Given the description of an element on the screen output the (x, y) to click on. 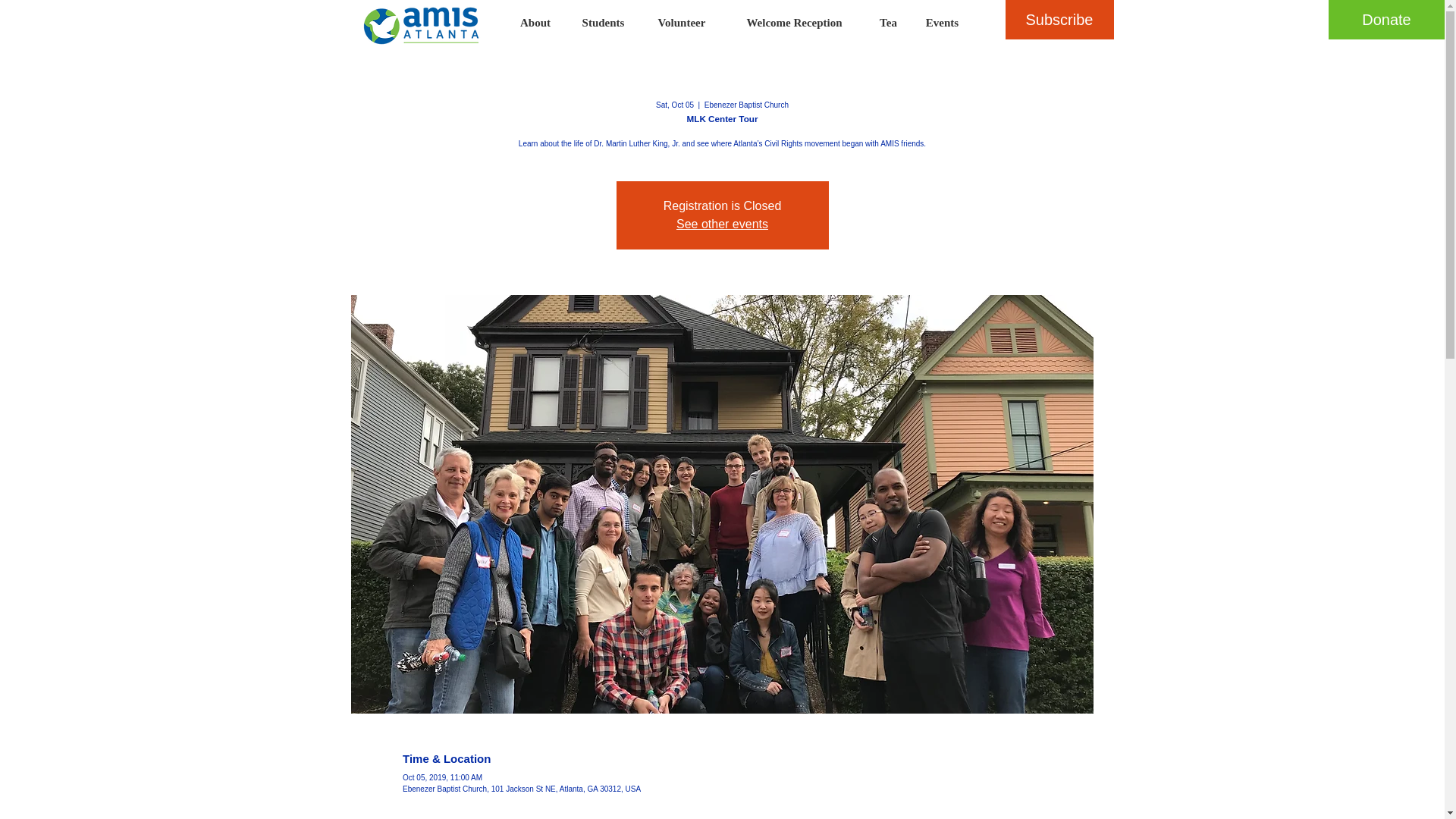
Volunteer (682, 22)
Students (604, 22)
About (534, 22)
Subscribe (1059, 19)
Tea (888, 22)
See other events (722, 223)
Events (942, 22)
Welcome Reception (794, 22)
